Given the description of an element on the screen output the (x, y) to click on. 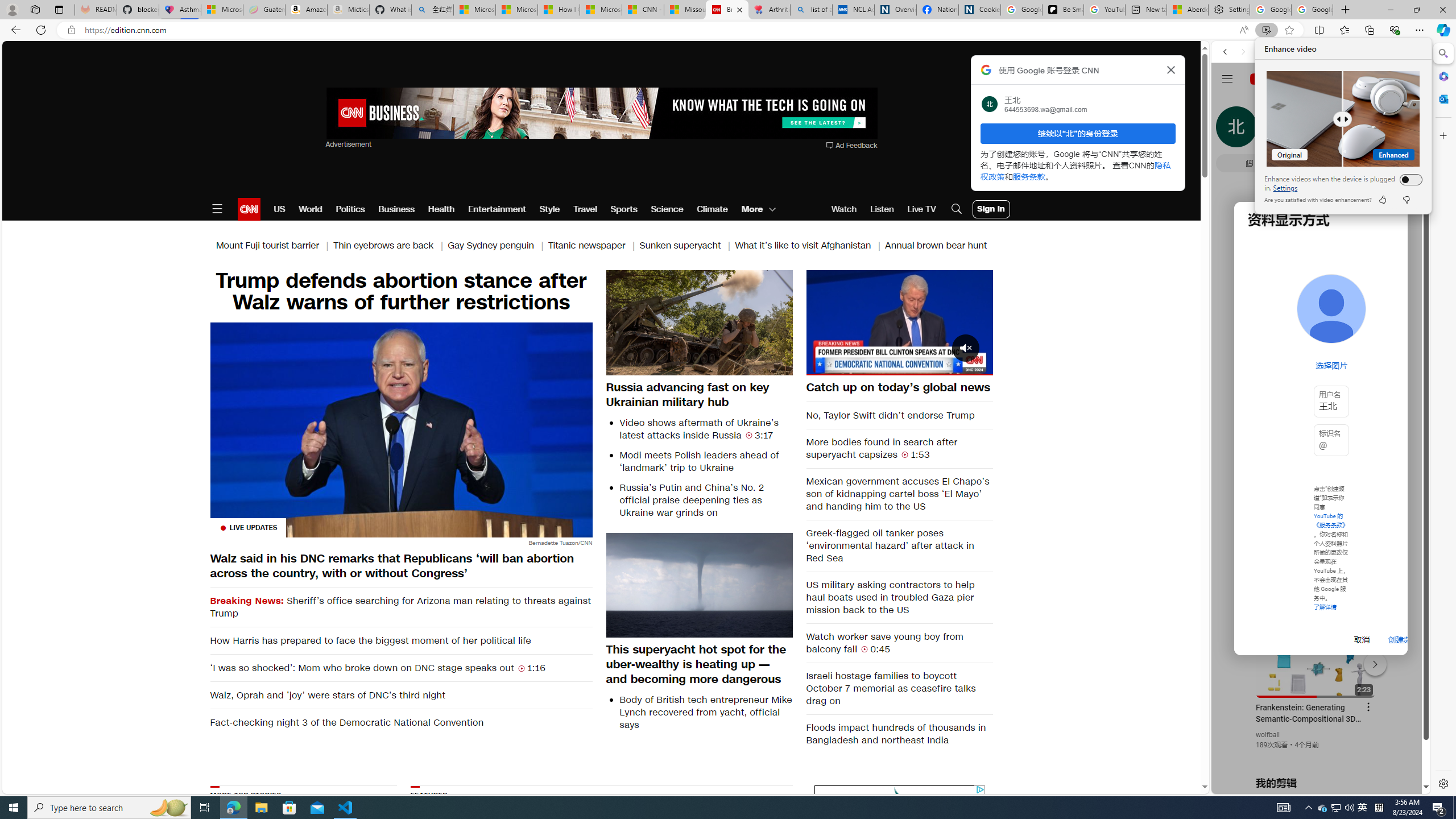
Climate (712, 209)
How I Got Rid of Microsoft Edge's Unnecessary Features (558, 9)
Class: Bz112c Bz112c-r9oPif (1170, 69)
AutomationID: aw0 (600, 113)
Asthma Inhalers: Names and Types (179, 9)
